Given the description of an element on the screen output the (x, y) to click on. 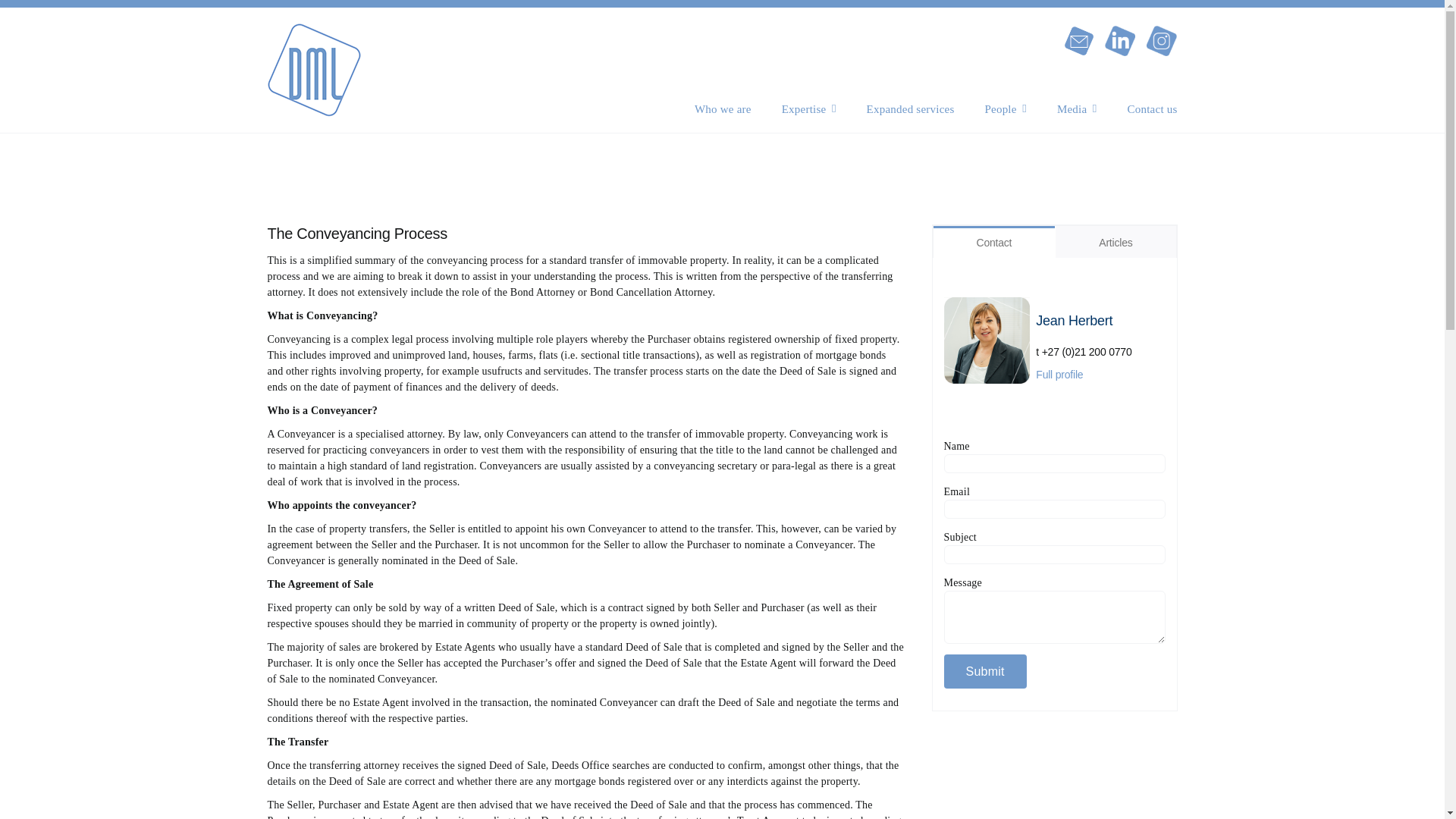
Media (1077, 108)
Submit (984, 671)
Who we are (722, 108)
Contact (993, 241)
Articles (1114, 241)
People (1005, 108)
Contact us (1151, 108)
Full profile (1059, 374)
Submit (984, 671)
Expanded services (910, 108)
Expertise (808, 108)
